Given the description of an element on the screen output the (x, y) to click on. 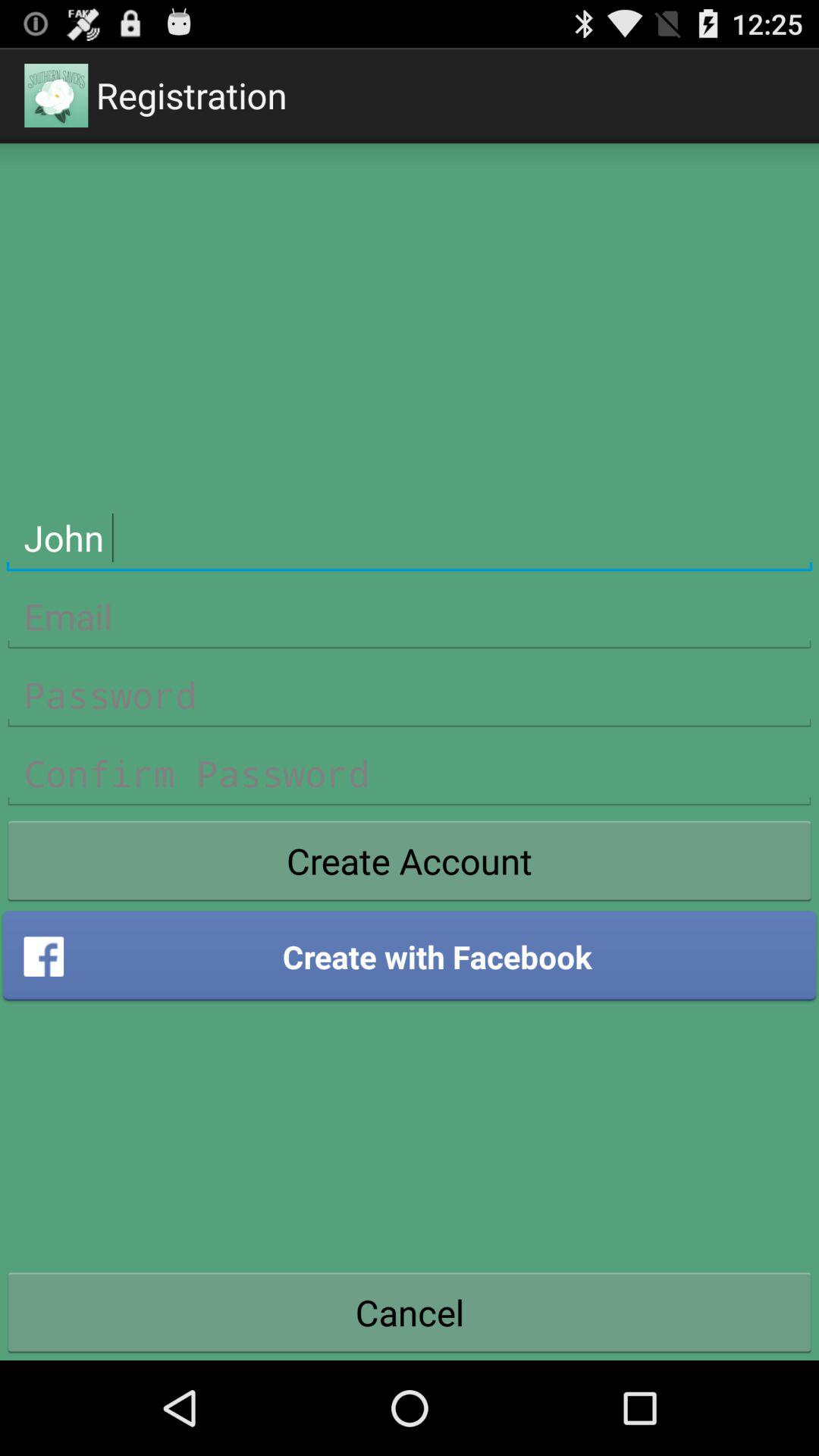
login password (409, 695)
